Given the description of an element on the screen output the (x, y) to click on. 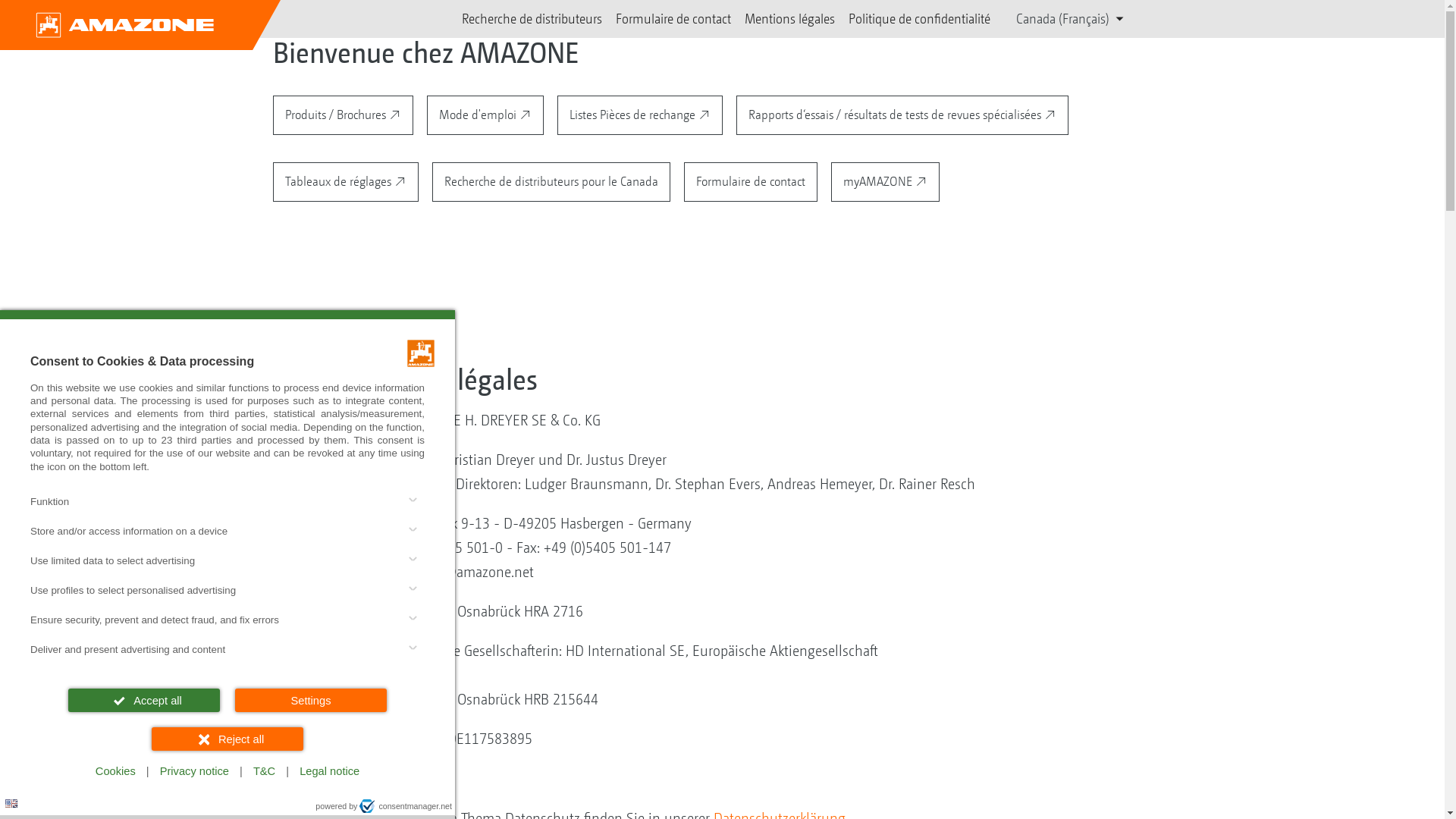
Mode d'emploi Element type: text (484, 114)
Recherche de distributeurs Element type: text (531, 18)
Privacy settings Element type: hover (17, 801)
Reject all Element type: text (227, 738)
consentmanager.net Element type: text (405, 805)
Settings Element type: text (310, 700)
Recherche de distributeurs pour le Canada Element type: text (551, 181)
Language: en Element type: hover (11, 803)
Formulaire de contact Element type: text (750, 181)
myAMAZONE Element type: text (885, 181)
Legal notice Element type: text (329, 771)
Language: en Element type: hover (11, 802)
T&C Element type: text (263, 771)
Accept all Element type: text (143, 700)
Privacy notice Element type: text (194, 771)
Cookies Element type: text (115, 771)
Formulaire de contact Element type: text (673, 18)
Produits / Brochures Element type: text (343, 114)
